Given the description of an element on the screen output the (x, y) to click on. 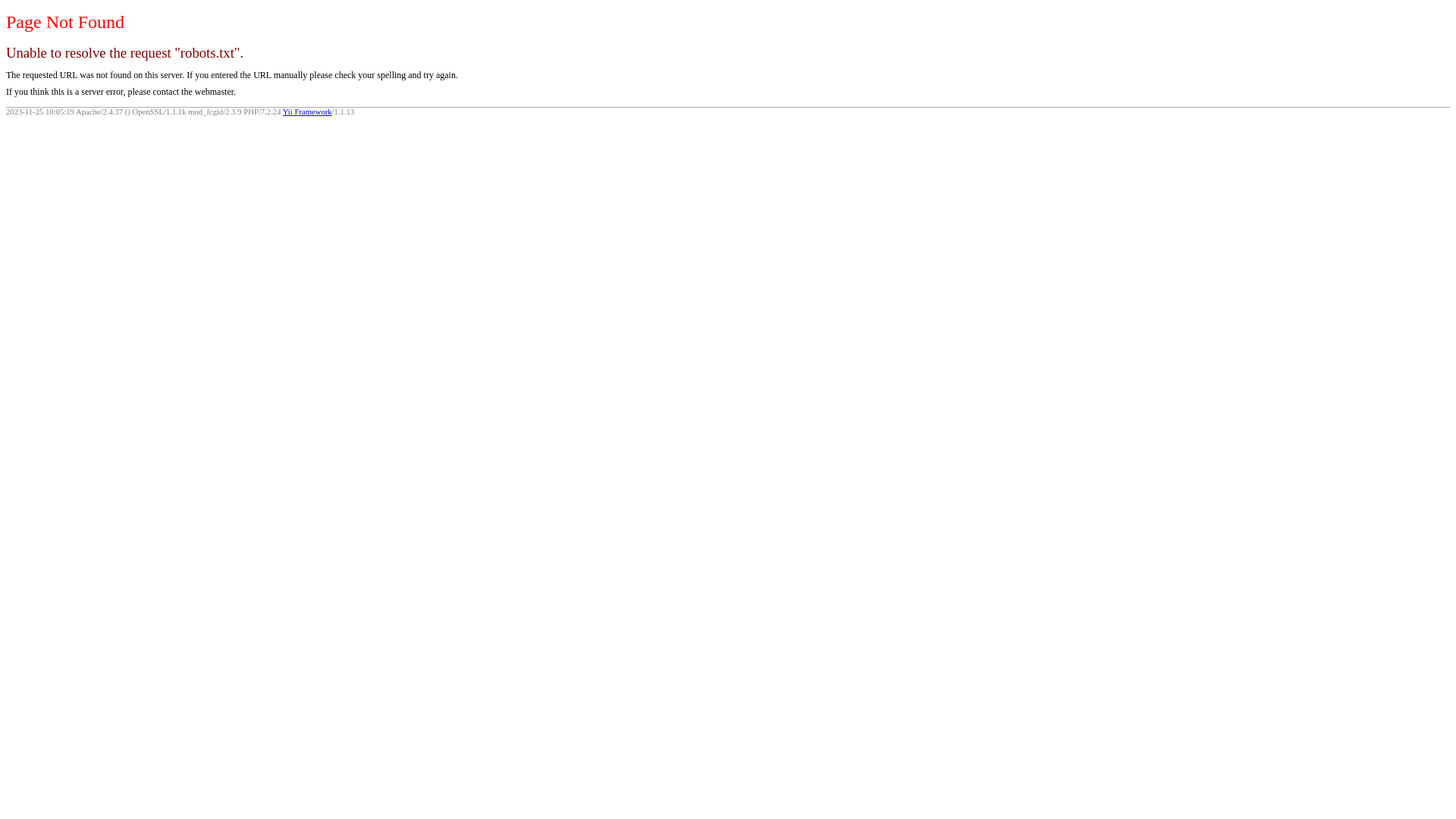
Yii Framework Element type: text (307, 111)
